Given the description of an element on the screen output the (x, y) to click on. 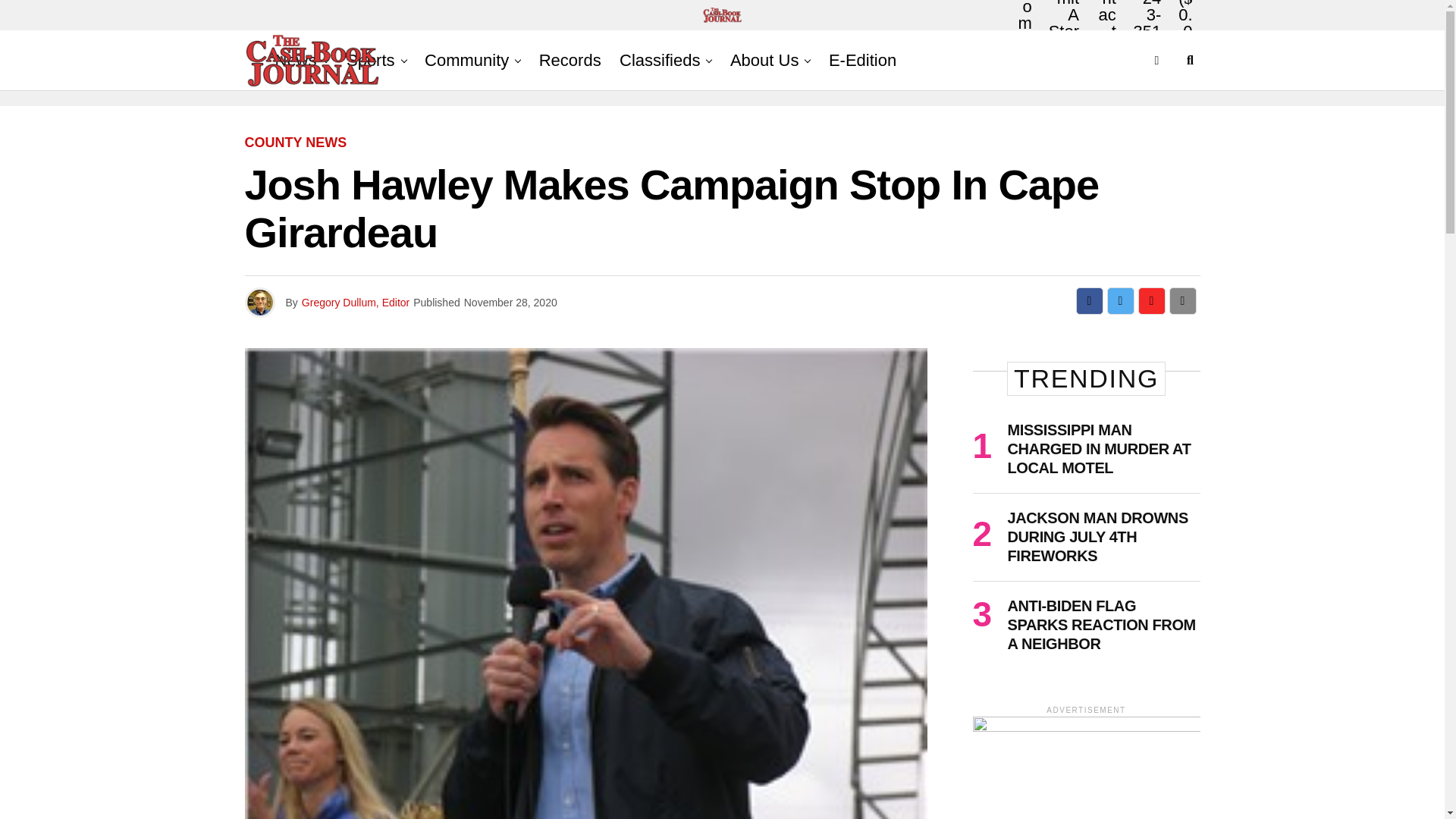
Home (1024, 35)
Community (466, 60)
Submit A Story (1062, 39)
Share on Flipboard (1150, 300)
Posts by Gregory Dullum, Editor (355, 302)
Tweet This Post (1120, 300)
Contact Us (1105, 39)
News (294, 60)
Share on Facebook (1088, 300)
Sports (371, 60)
573-243-3515 (1146, 39)
